Given the description of an element on the screen output the (x, y) to click on. 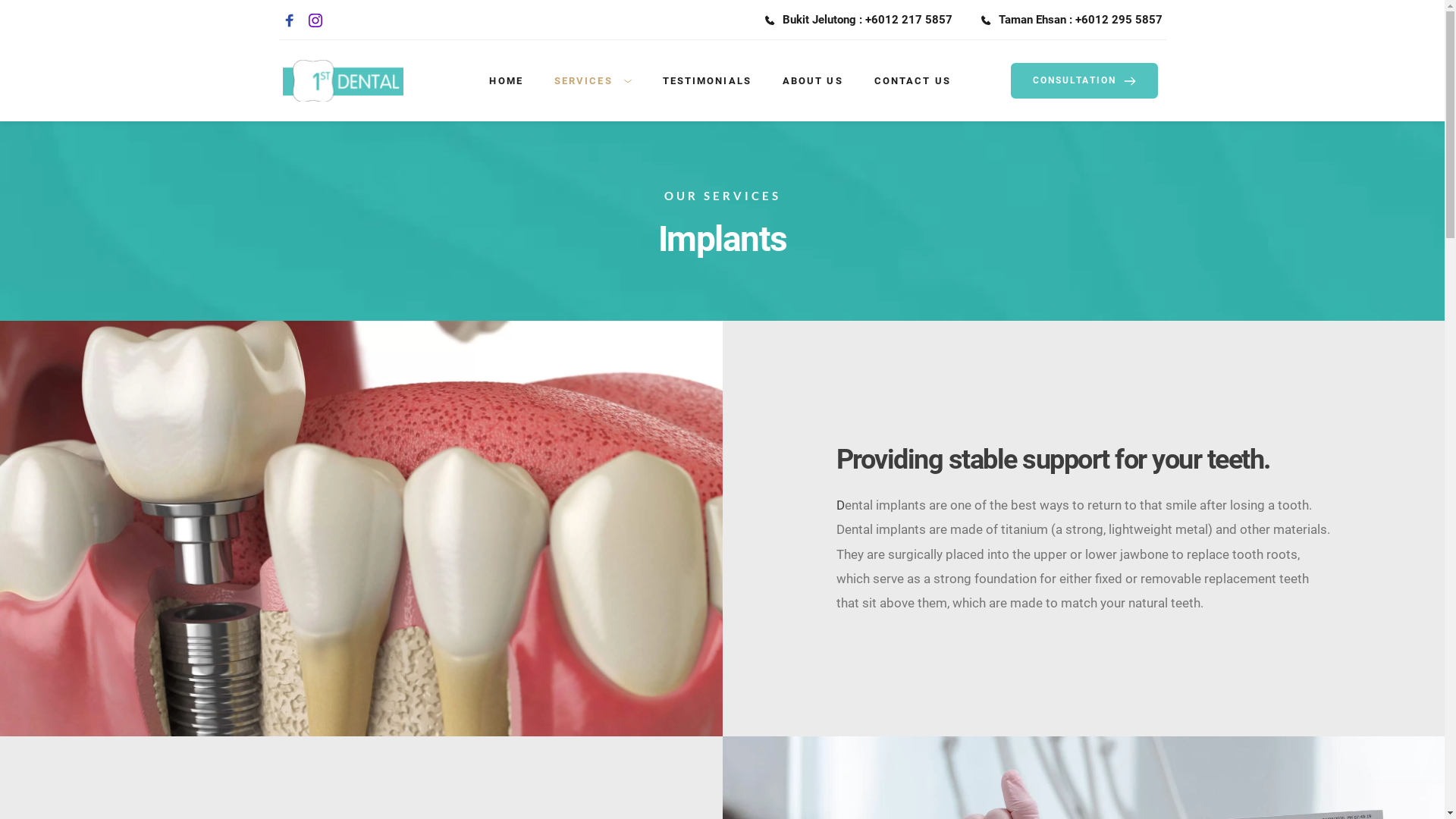
Bukit Jelutong : +6012 217 5857 Element type: text (857, 19)
CONTACT US Element type: text (912, 80)
TESTIMONIALS Element type: text (706, 80)
SERVICES Element type: text (592, 80)
CONSULTATION Element type: text (1083, 80)
ABOUT US Element type: text (812, 80)
HOME Element type: text (505, 80)
Taman Ehsan : +6012 295 5857 Element type: text (1071, 19)
